Given the description of an element on the screen output the (x, y) to click on. 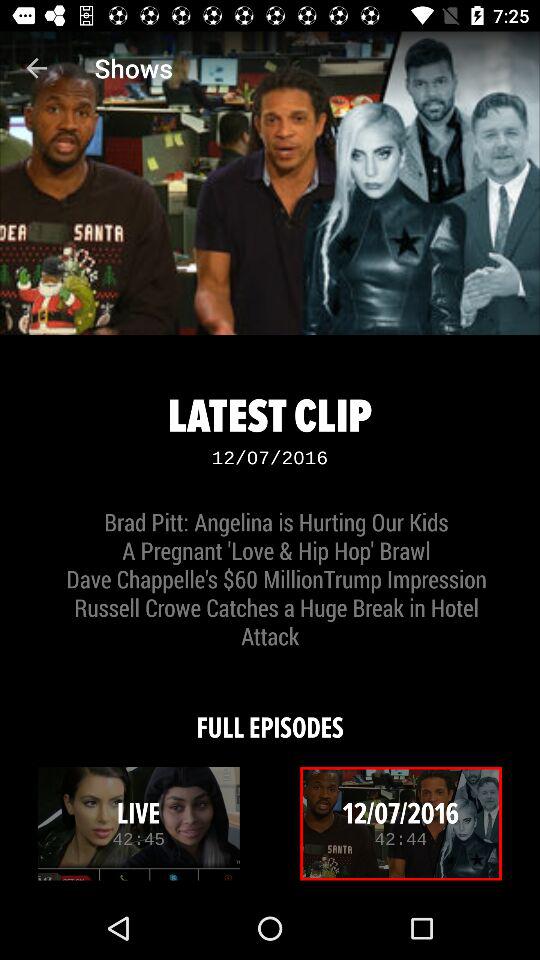
turn off the full episodes icon (270, 713)
